Given the description of an element on the screen output the (x, y) to click on. 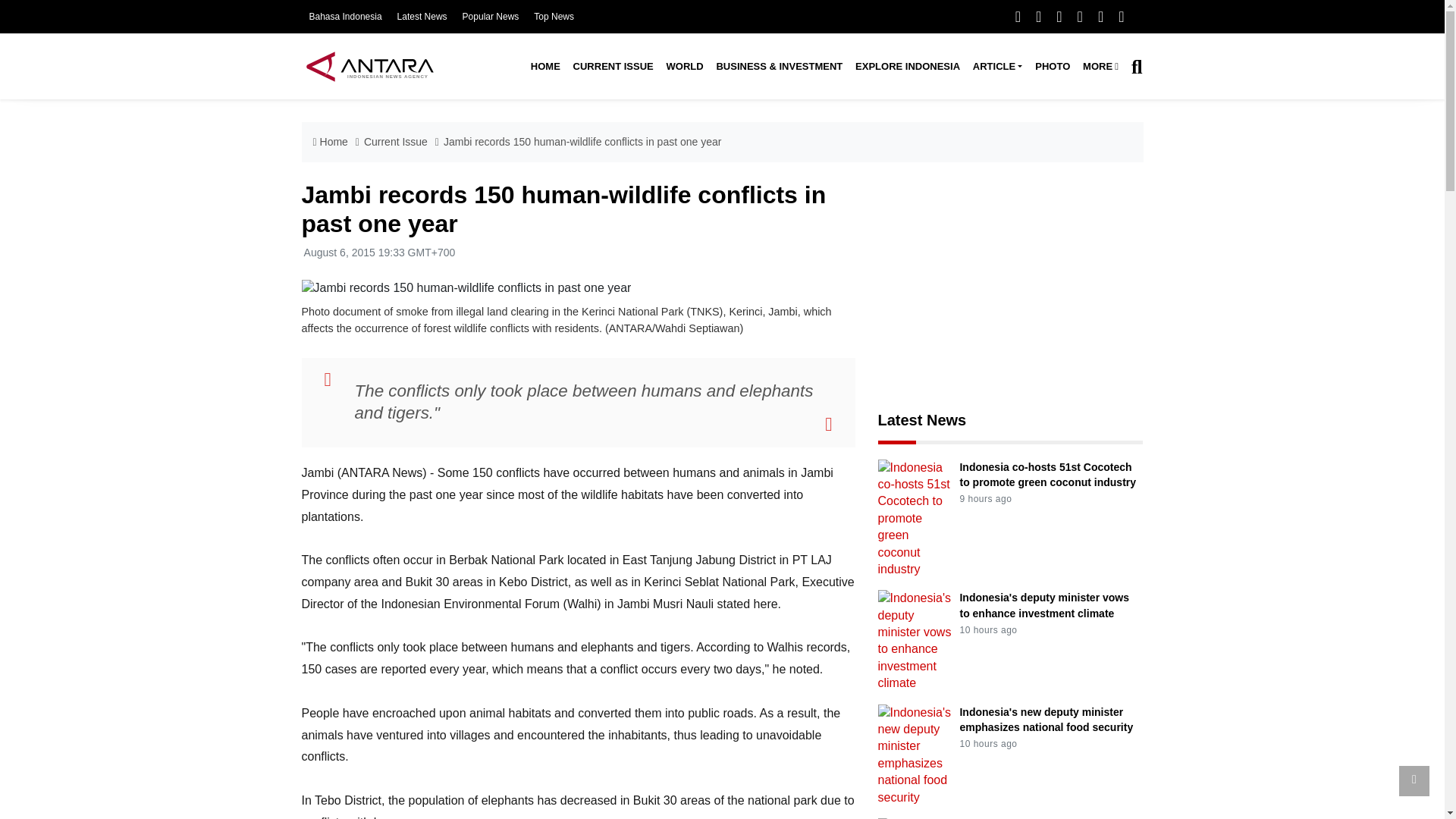
Top News (553, 16)
Current Issue (612, 66)
Latest News (421, 16)
Bahasa Indonesia (344, 16)
Instagram ANTARA (1059, 15)
Latest News (421, 16)
MORE (1101, 66)
ANTARA News (369, 66)
Youtube ANTARA (1080, 15)
Explore Indonesia (907, 66)
Top News (553, 16)
CURRENT ISSUE (612, 66)
Twitter ANTARA (1038, 15)
Facebook ANTARA (1017, 15)
World (684, 66)
